Given the description of an element on the screen output the (x, y) to click on. 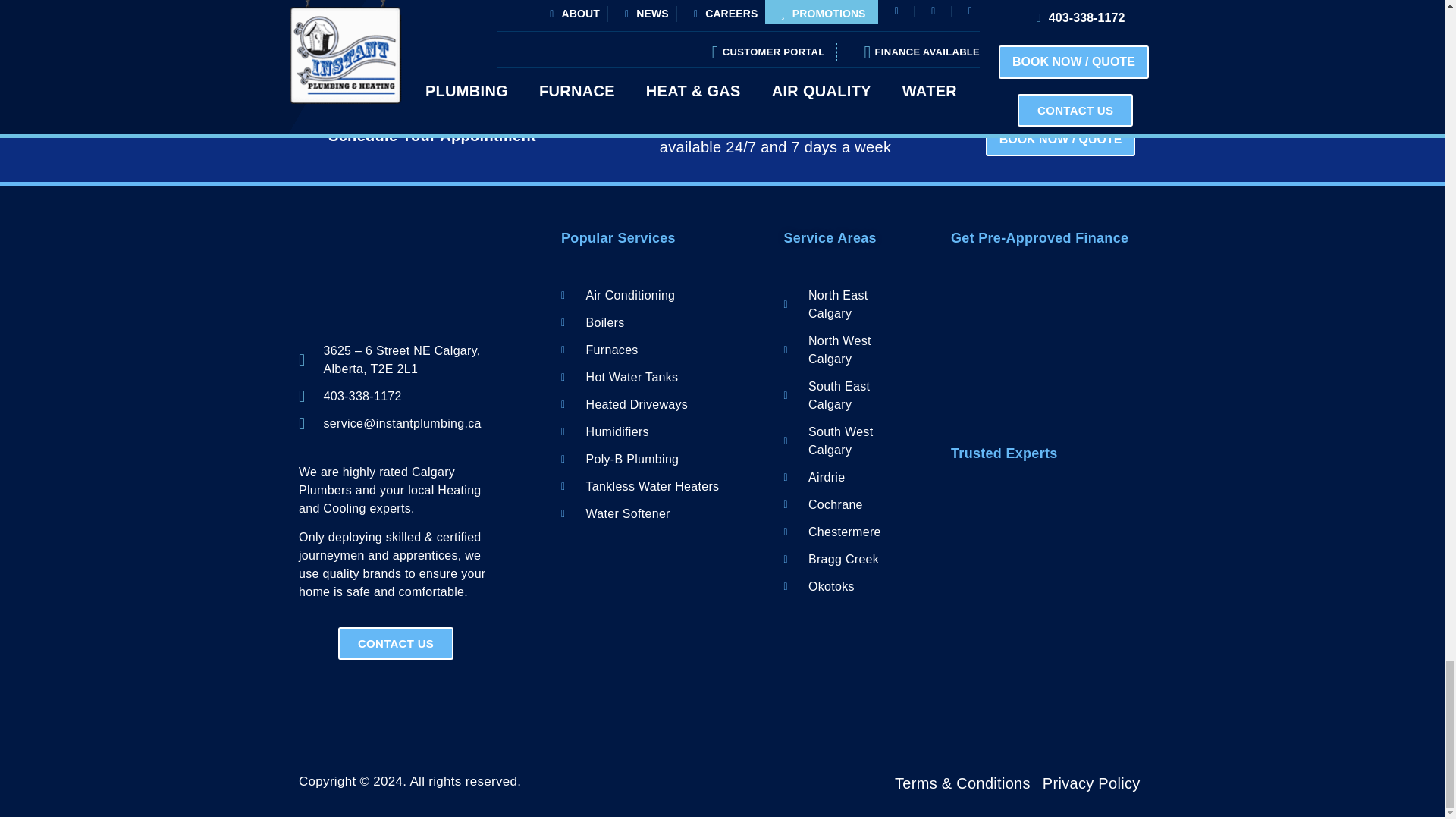
Dp75 (1048, 688)
Post Comment (351, 1)
cor75 (1048, 604)
bbb-1501 (1048, 518)
financeitlogo (1047, 299)
